Given the description of an element on the screen output the (x, y) to click on. 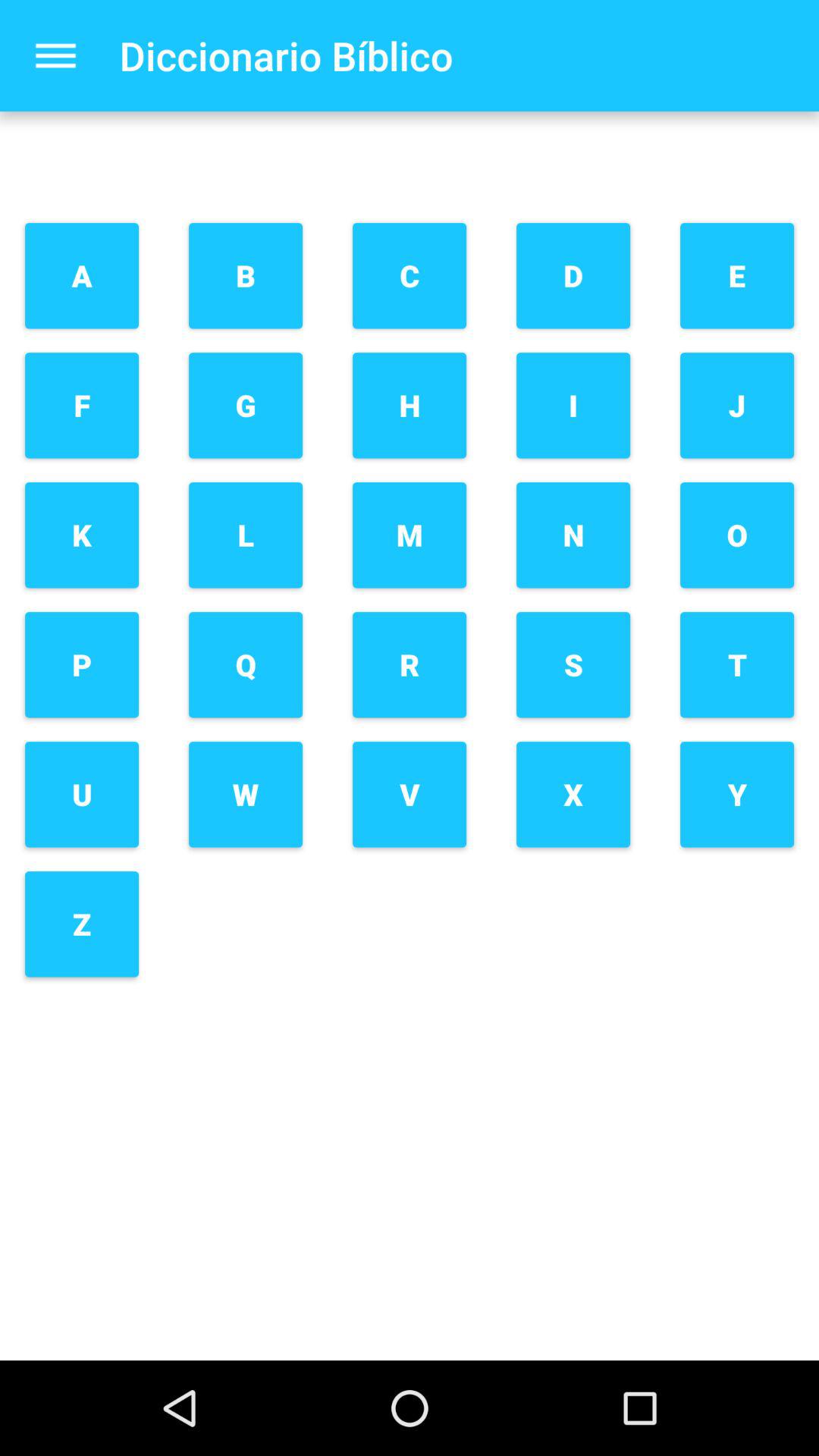
press the icon below the s button (573, 794)
